Given the description of an element on the screen output the (x, y) to click on. 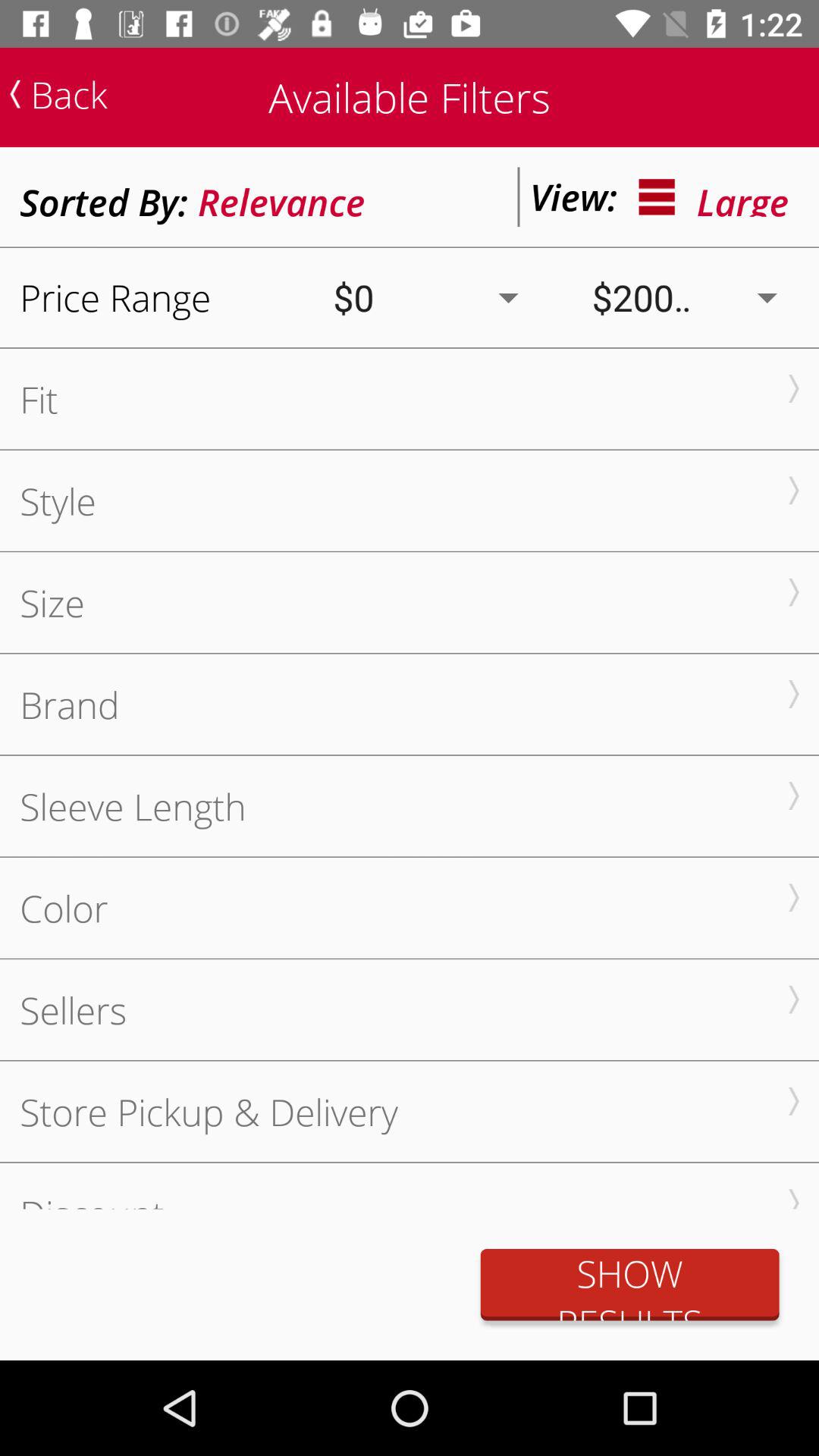
press icon next to the sorted by: icon (281, 196)
